Given the description of an element on the screen output the (x, y) to click on. 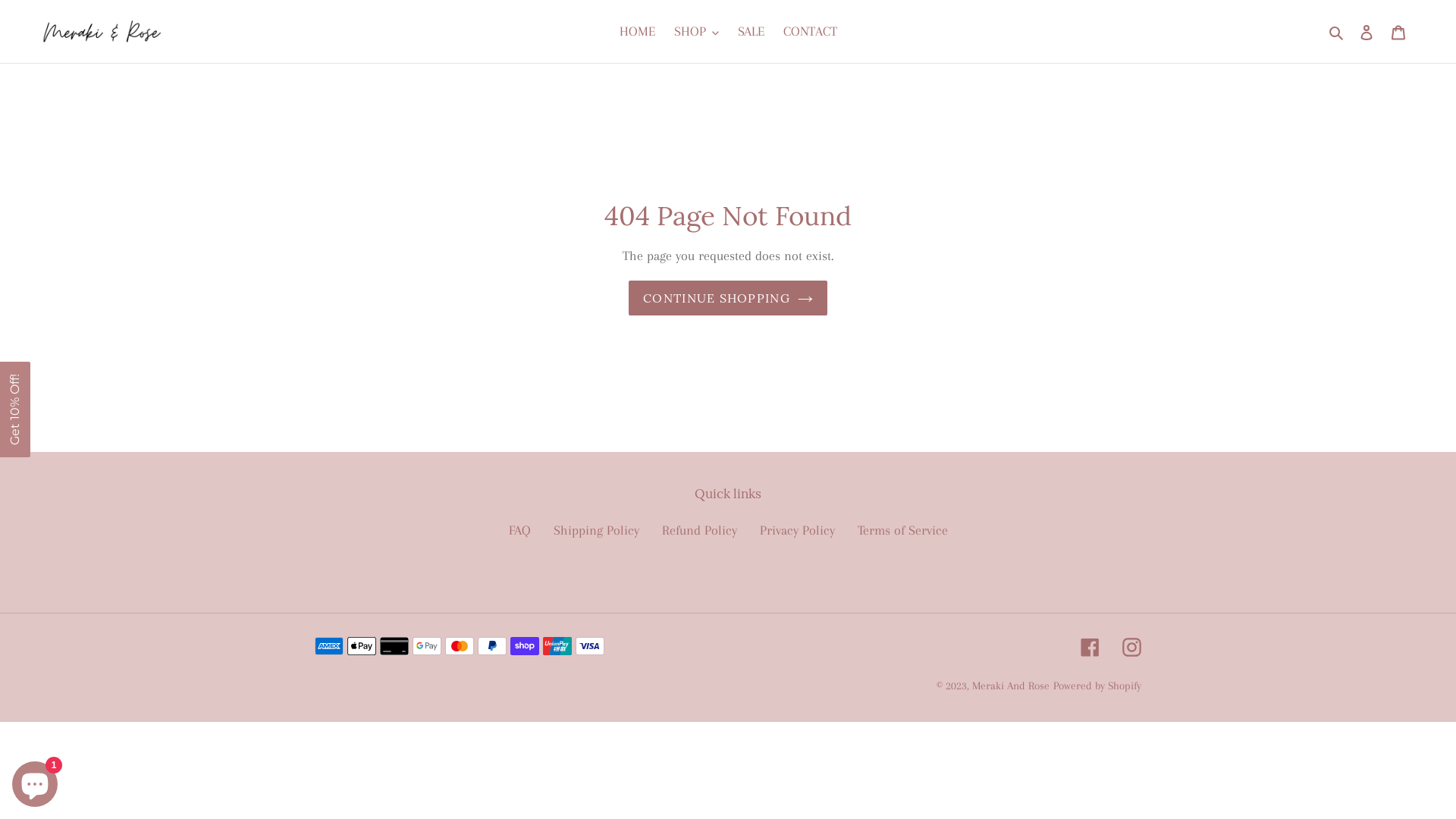
Powered by Shopify Element type: text (1097, 685)
Meraki And Rose Element type: text (1010, 685)
Refund Policy Element type: text (698, 529)
SHOP Element type: text (695, 30)
HOME Element type: text (636, 30)
FAQ Element type: text (519, 529)
CONTINUE SHOPPING Element type: text (727, 297)
SALE Element type: text (750, 30)
Shopify online store chat Element type: hover (34, 780)
Terms of Service Element type: text (901, 529)
Log in Element type: text (1366, 31)
CONTACT Element type: text (809, 30)
Privacy Policy Element type: text (796, 529)
Facebook Element type: text (1089, 645)
Search Element type: text (1337, 31)
Instagram Element type: text (1131, 645)
Cart Element type: text (1398, 31)
Shipping Policy Element type: text (596, 529)
